Given the description of an element on the screen output the (x, y) to click on. 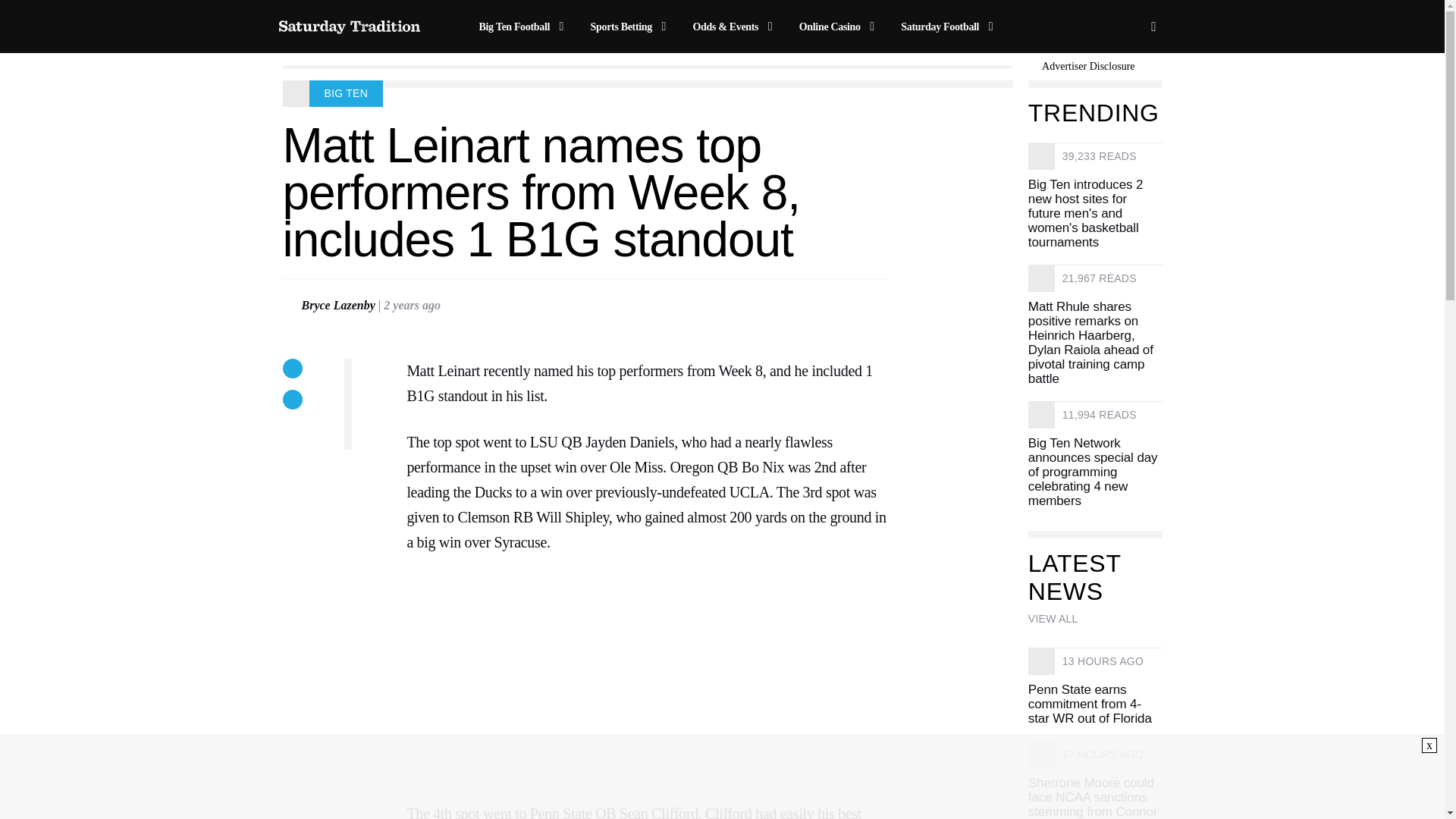
Big Ten Football (524, 26)
Sports Betting (631, 26)
